Given the description of an element on the screen output the (x, y) to click on. 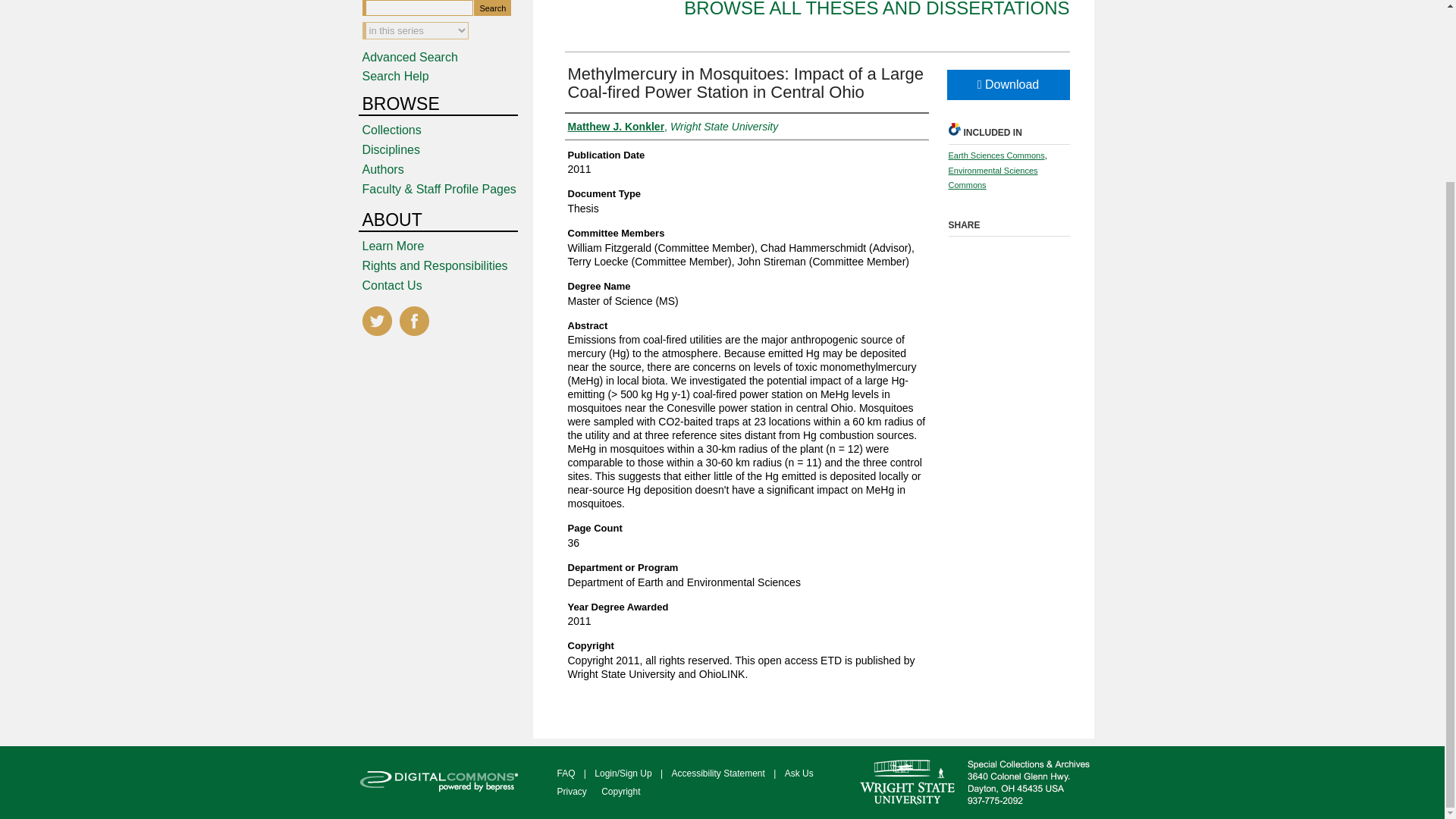
Search (492, 7)
Advanced Search (410, 56)
Disciplines (447, 150)
Earth Sciences Commons (995, 154)
Environmental Sciences Commons (991, 178)
Download (1007, 84)
Search (492, 7)
Collections (447, 130)
Environmental Sciences Commons (991, 178)
Authors (447, 169)
Search Help (395, 75)
Search (492, 7)
Matthew J. Konkler, Wright State University (672, 126)
Earth Sciences Commons (995, 154)
